Given the description of an element on the screen output the (x, y) to click on. 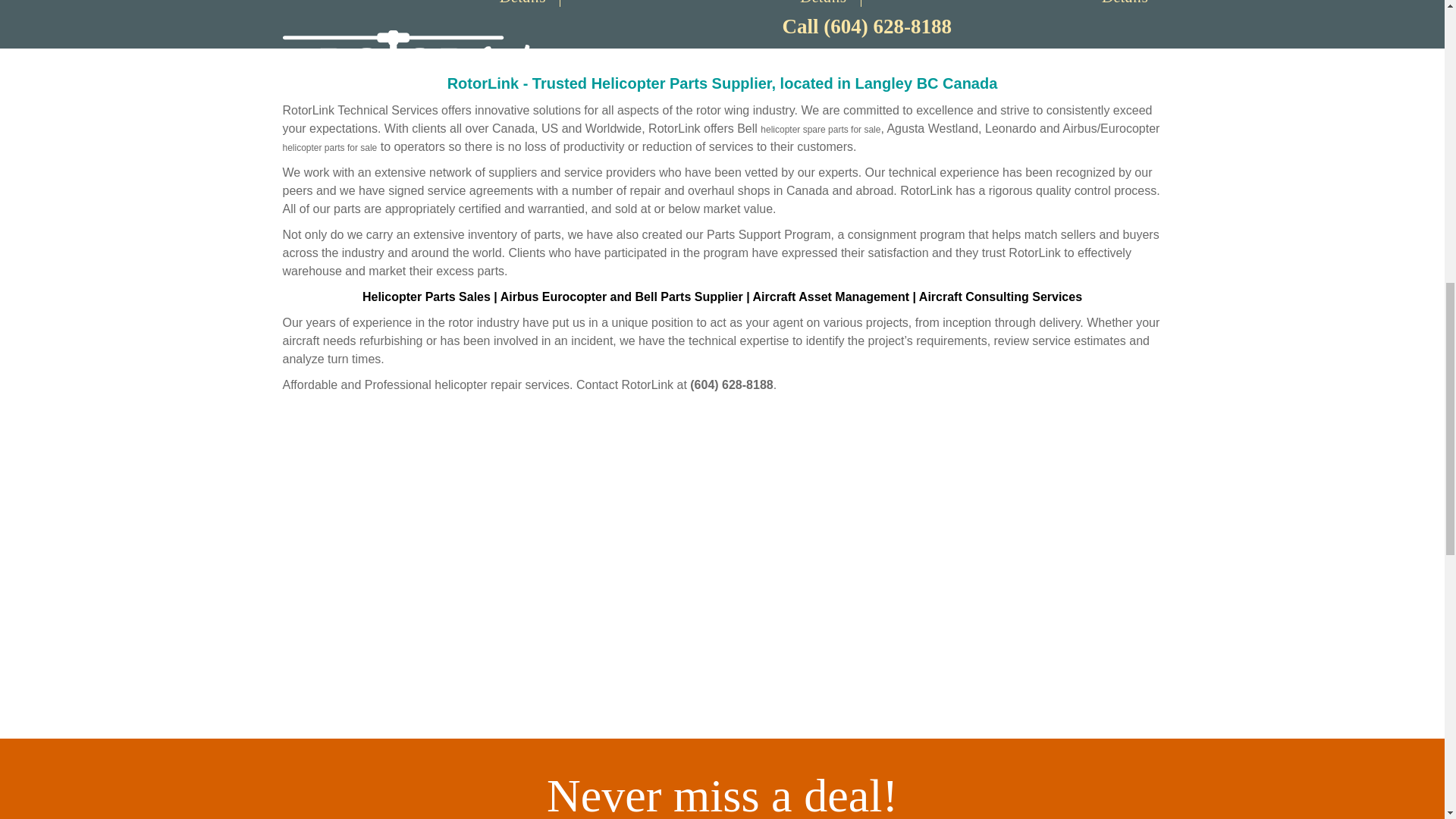
helicopter spare parts for sale (820, 129)
helicopter parts for sale (329, 147)
Details (522, 3)
Details (823, 3)
Details (1125, 3)
